Given the description of an element on the screen output the (x, y) to click on. 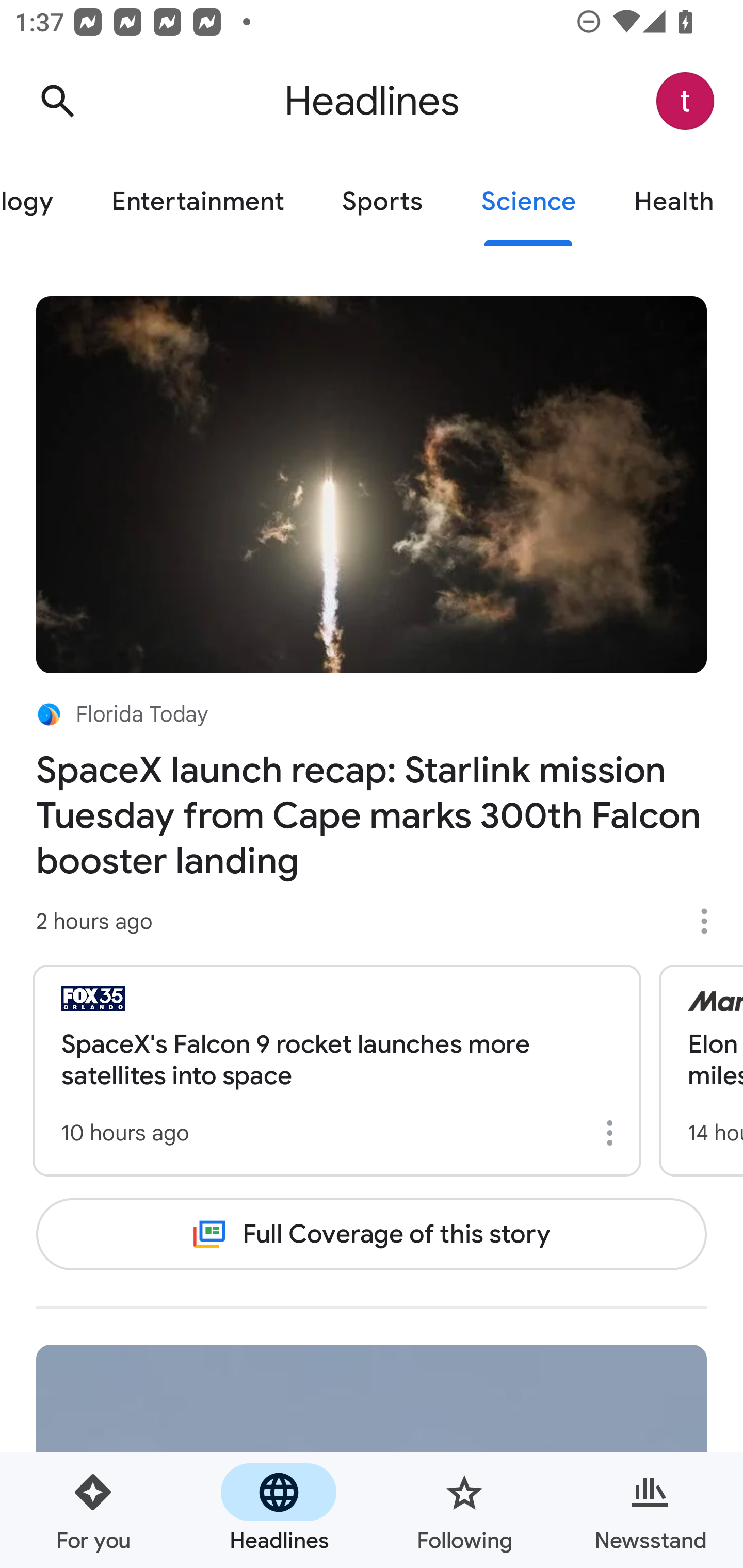
Search (57, 100)
Technology (40, 202)
Entertainment (197, 202)
Sports (382, 202)
Health (673, 202)
More options (711, 921)
More options (613, 1132)
Full Coverage of this story (371, 1233)
For you (92, 1509)
Headlines (278, 1509)
Following (464, 1509)
Newsstand (650, 1509)
